Given the description of an element on the screen output the (x, y) to click on. 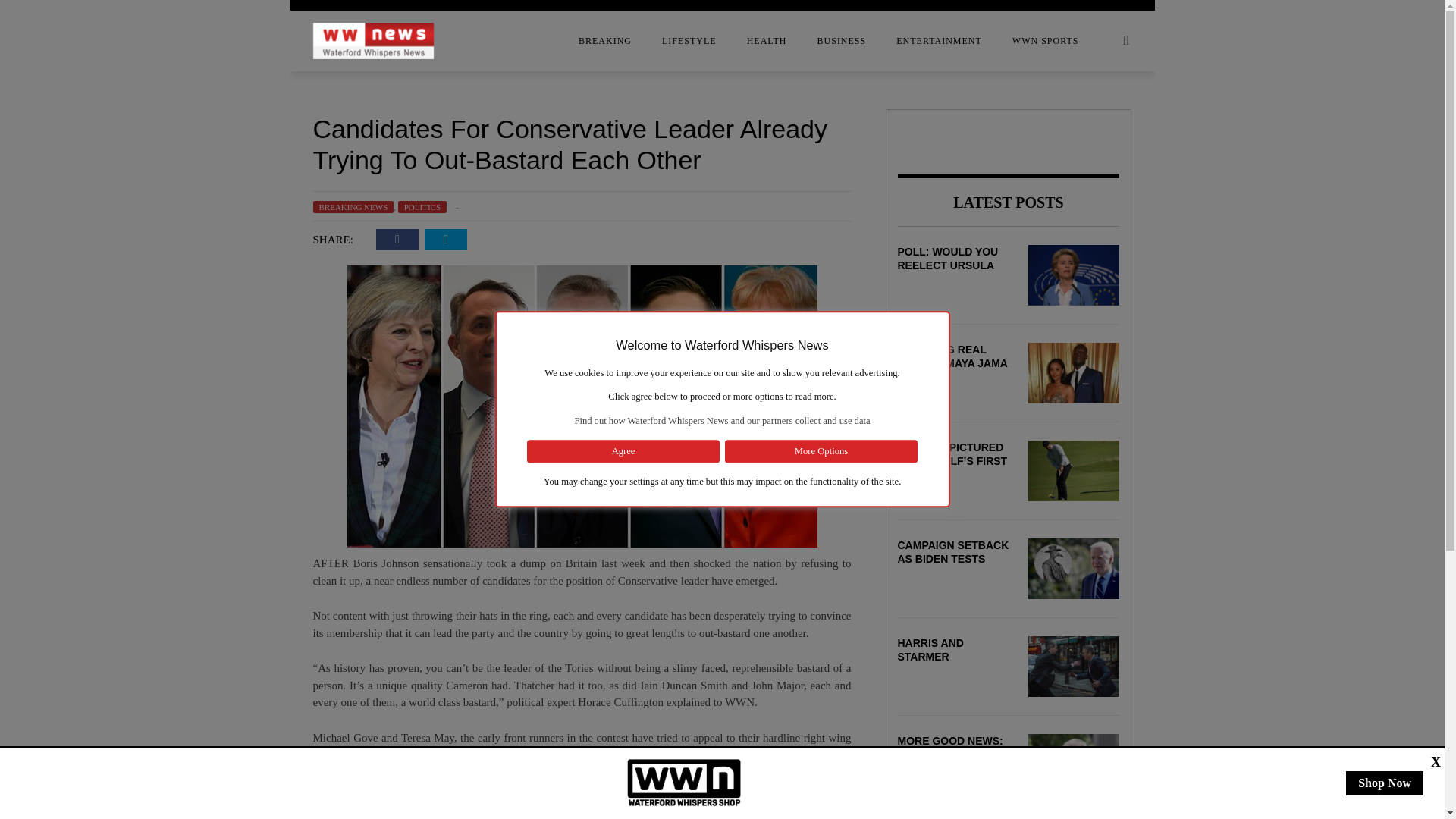
BREAKING (604, 40)
CONTACT US (191, 116)
PRIVACY (191, 237)
NEWSLETTER SIGN UP FORM (191, 207)
YOUR PRIVACY SETTINGS (191, 268)
DISCLAIMER (191, 146)
Support us on waterfordwhispers.shop (684, 782)
COMPETITION RULES (191, 86)
HOMEPAGE (191, 177)
